Given the description of an element on the screen output the (x, y) to click on. 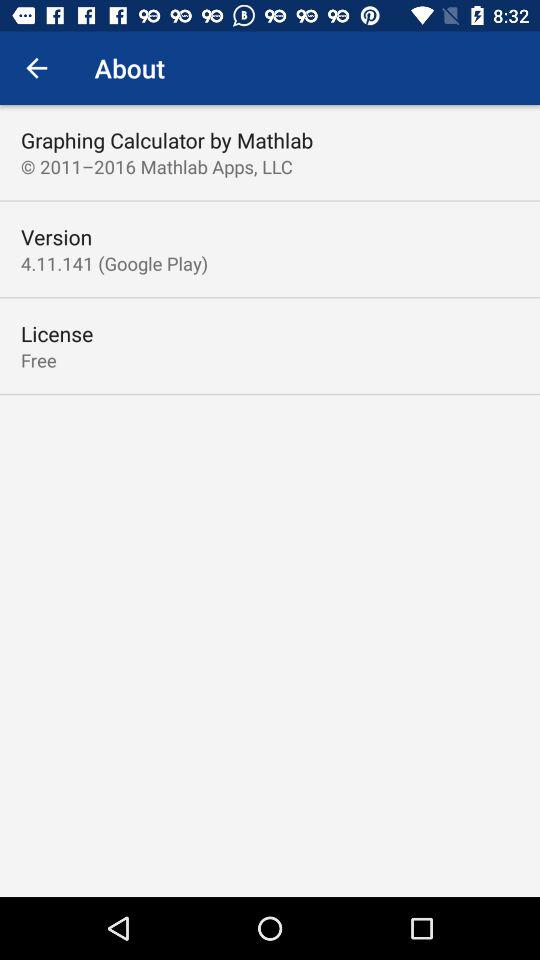
click the icon above free (57, 333)
